Given the description of an element on the screen output the (x, y) to click on. 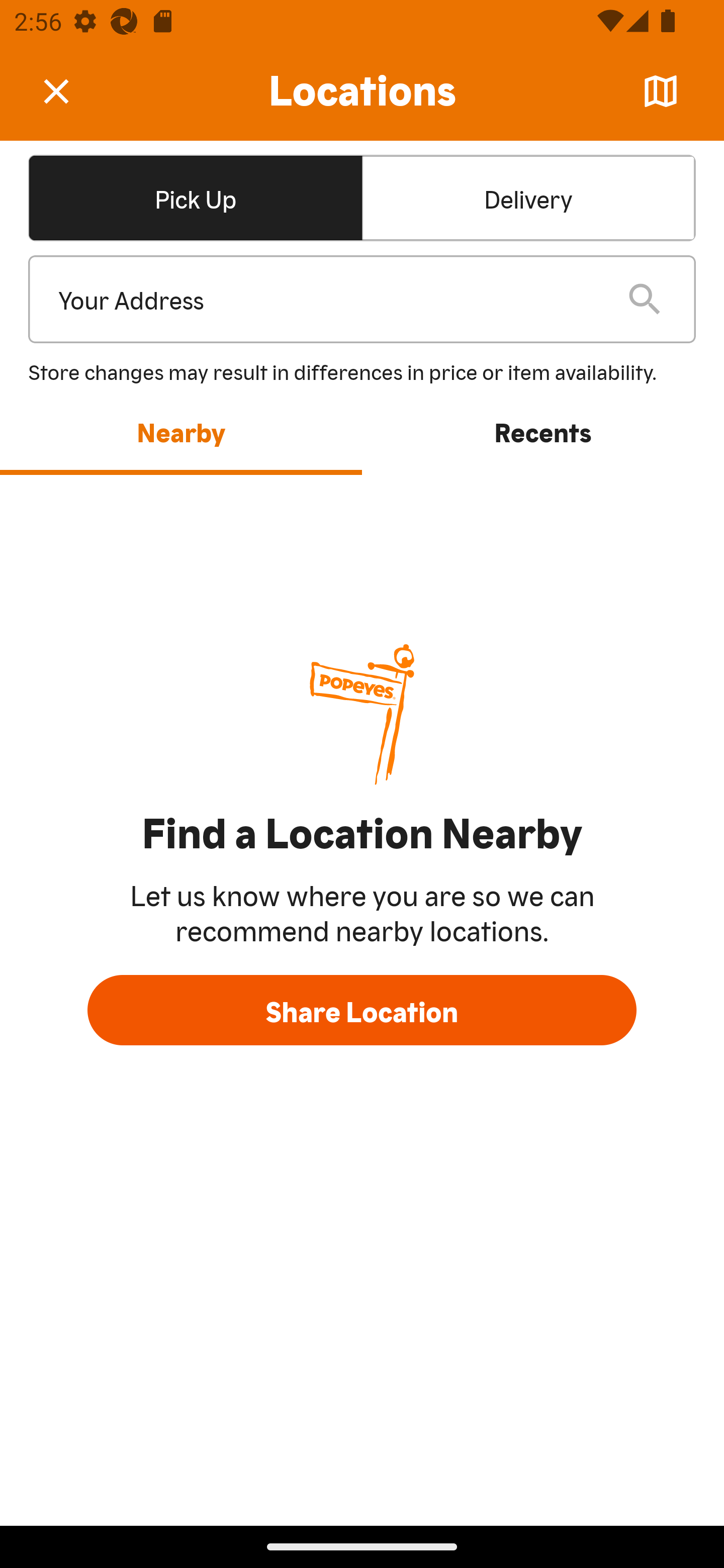
 (70, 90)
Map 󰦂 (660, 91)
Locations (362, 91)
Pick UpSelected Pick UpSelected Pick Up (195, 197)
Delivery Delivery Delivery (528, 197)
Your Address (327, 299)
Nearby (181, 430)
Recents (543, 430)
Share Location (361, 1010)
